Given the description of an element on the screen output the (x, y) to click on. 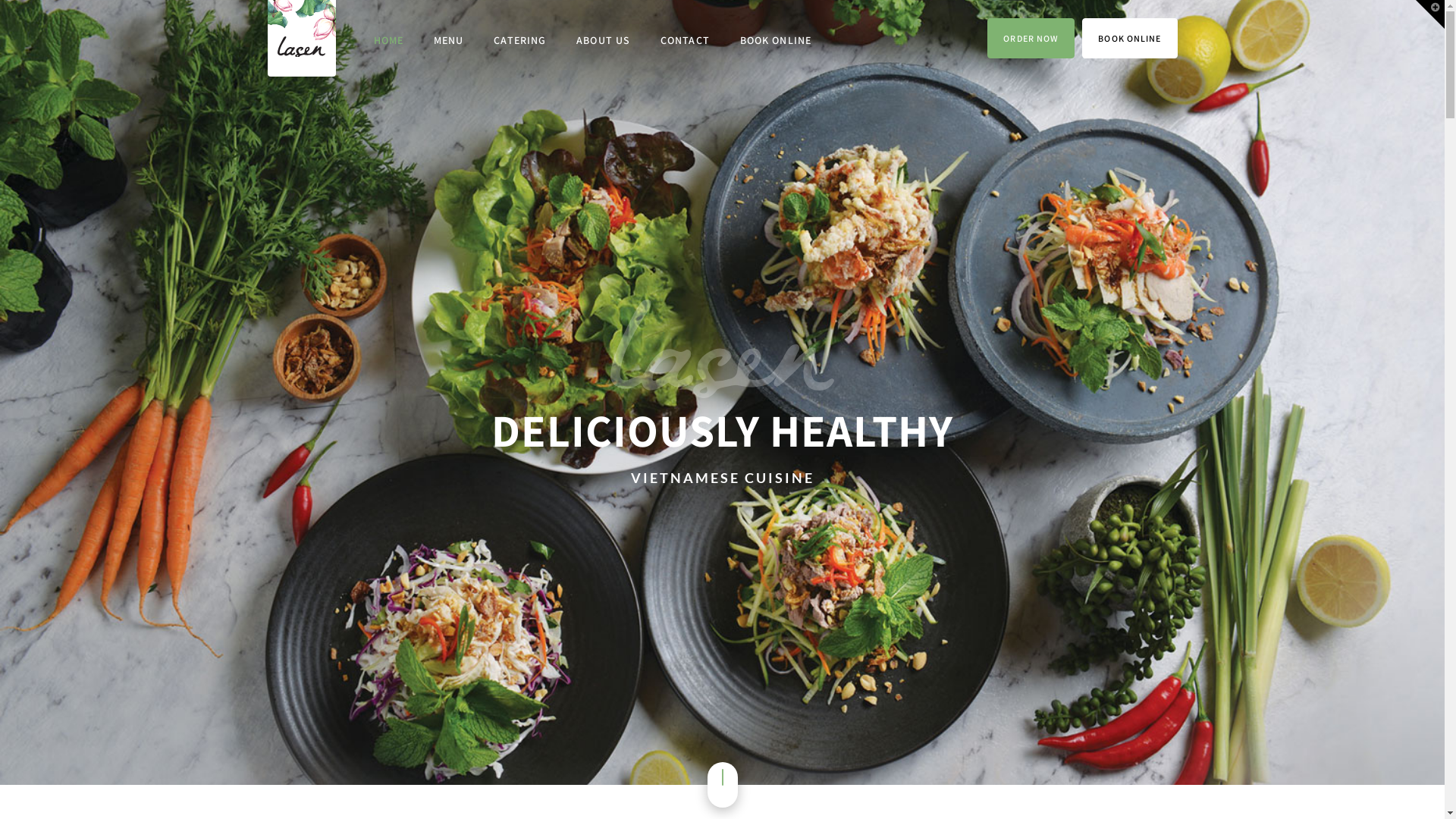
ORDER NOW Element type: text (1030, 38)
BOOK ONLINE Element type: text (1129, 38)
HOME Element type: text (387, 40)
CATERING Element type: text (519, 40)
BOOK ONLINE Element type: text (775, 40)
MENU Element type: text (448, 40)
CONTACT Element type: text (684, 40)
ABOUT US Element type: text (603, 40)
Toggle the Widgetbar Element type: text (1429, 14)
